Given the description of an element on the screen output the (x, y) to click on. 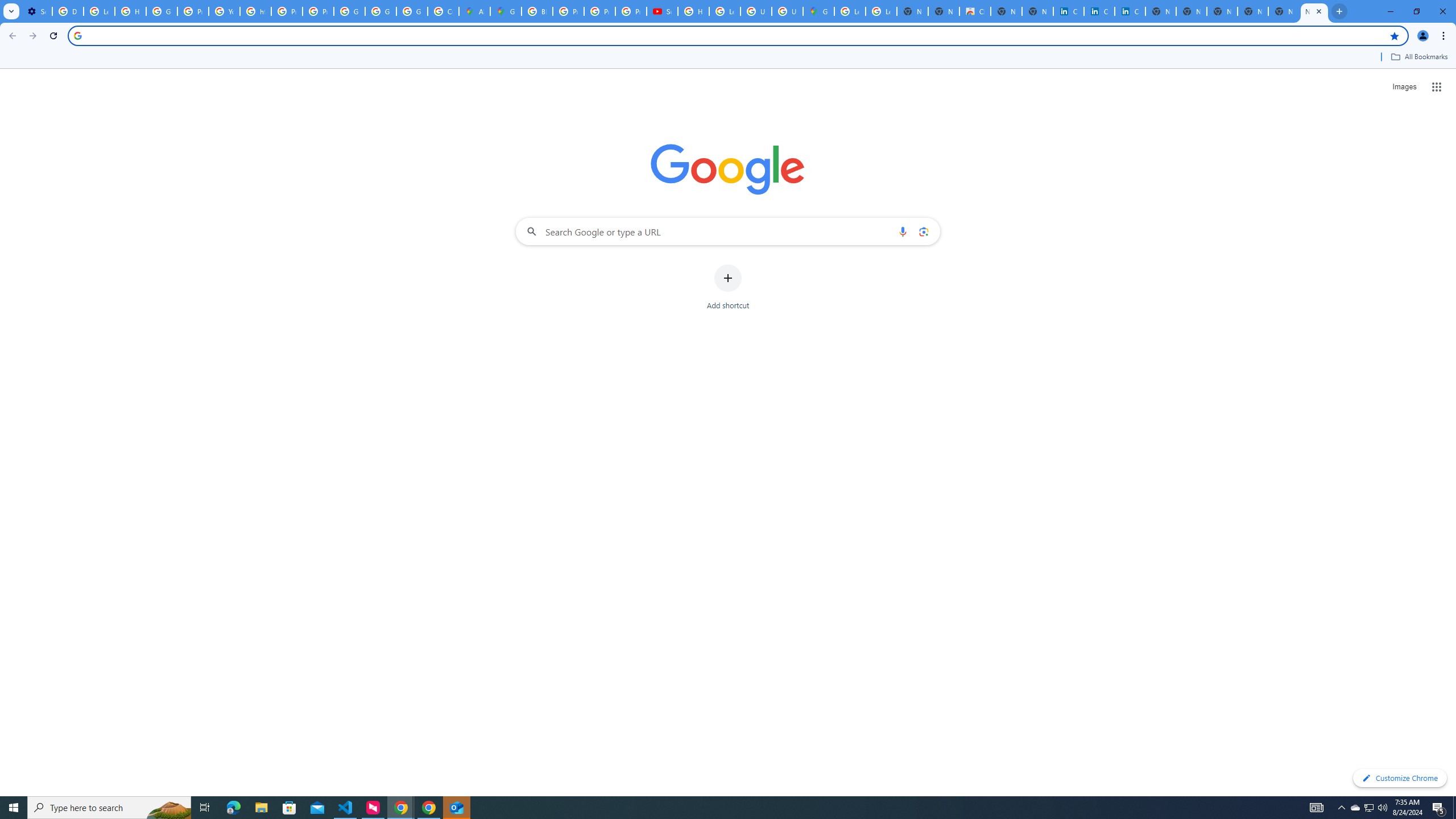
Privacy Help Center - Policies Help (599, 11)
Cookie Policy | LinkedIn (1098, 11)
Privacy Help Center - Policies Help (568, 11)
Copyright Policy (1129, 11)
Add shortcut (727, 287)
Google Maps (818, 11)
